Given the description of an element on the screen output the (x, y) to click on. 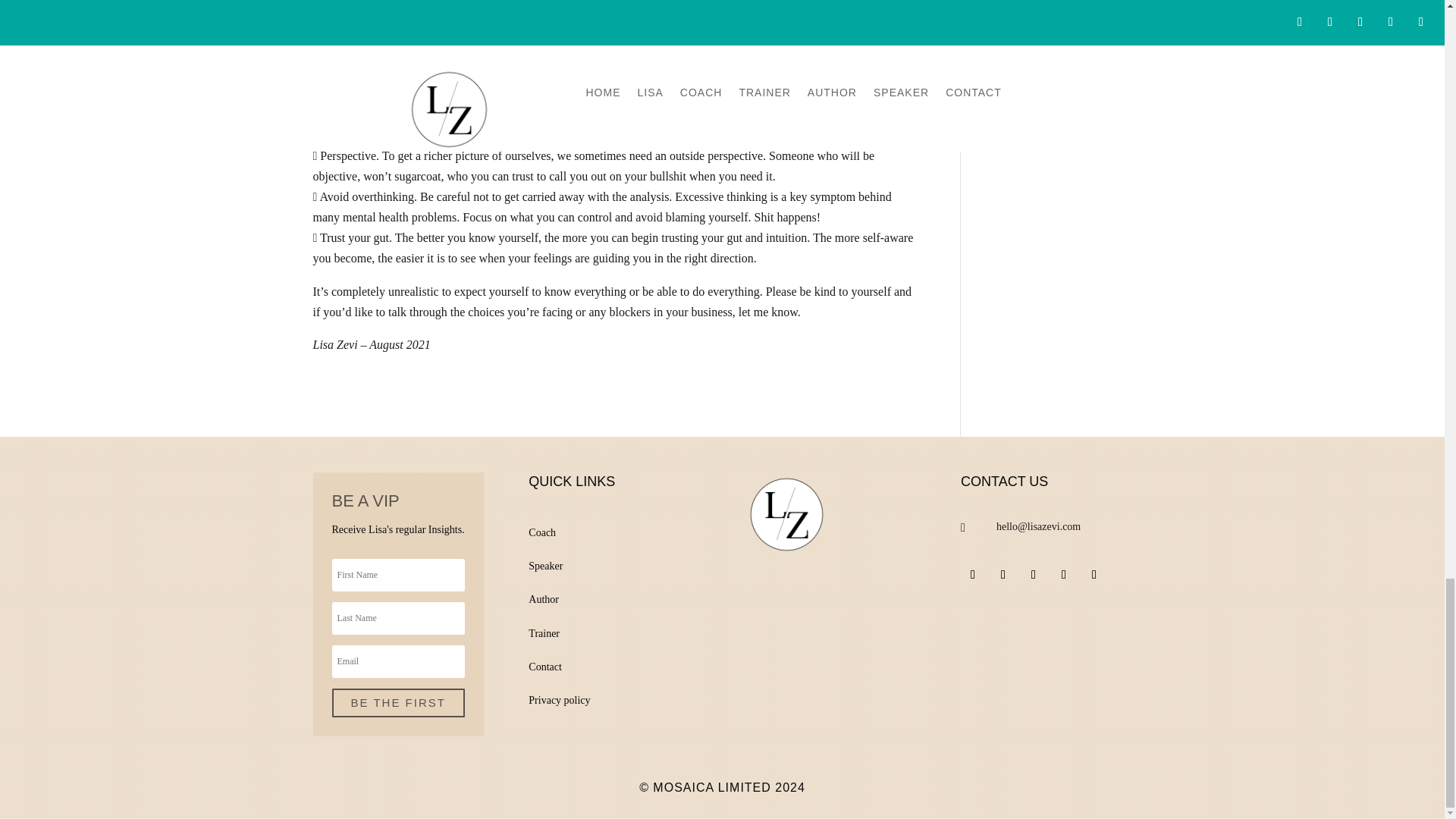
Follow on Facebook (972, 574)
Follow on Twitter (1002, 574)
Lisa Zevi logo with circle (786, 514)
Follow on Youtube (1093, 574)
Follow on LinkedIn (1063, 574)
Follow on Instagram (1033, 574)
